Given the description of an element on the screen output the (x, y) to click on. 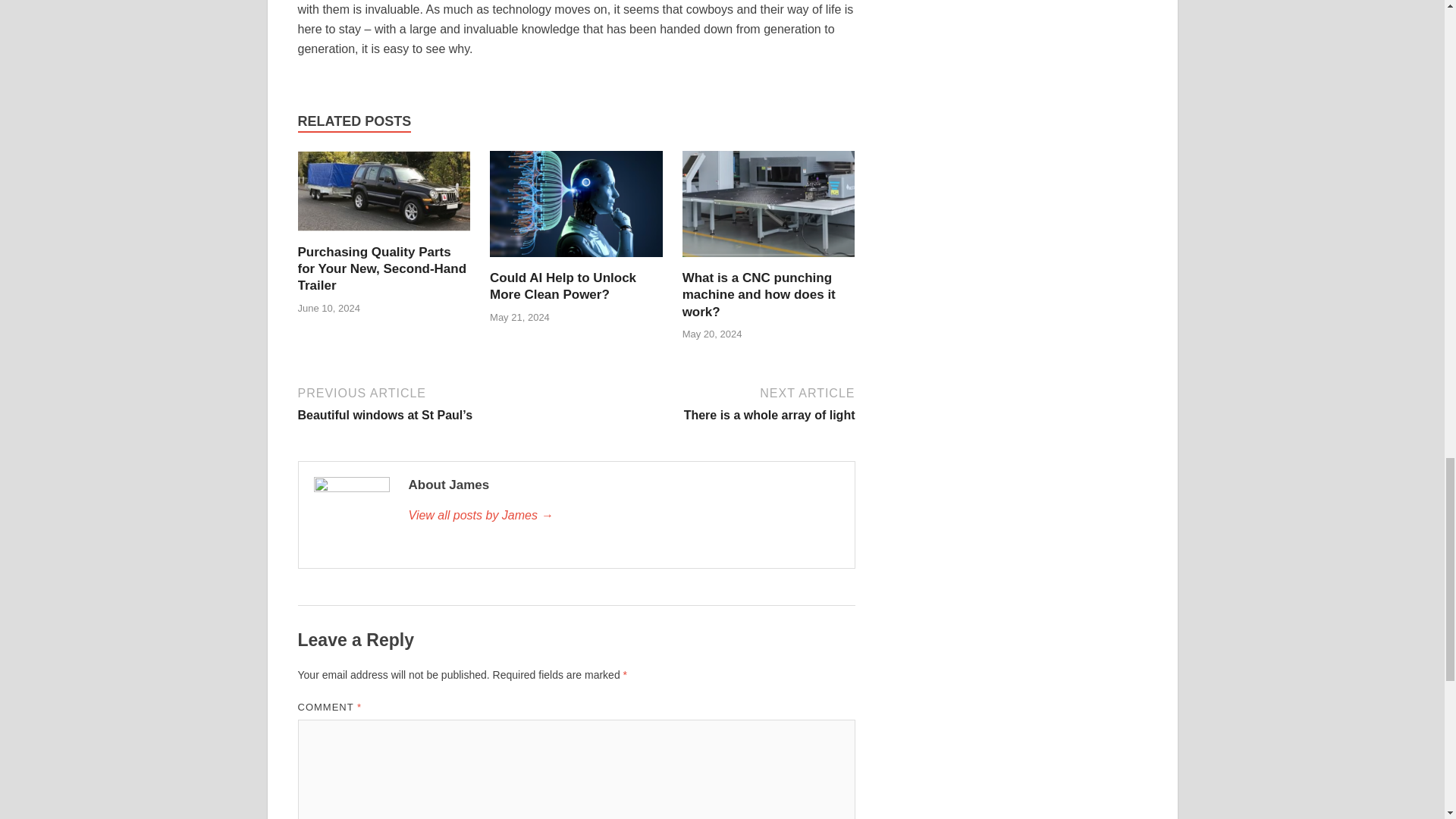
Could AI Help to Unlock More Clean Power? (575, 209)
Could AI Help to Unlock More Clean Power? (562, 286)
Purchasing Quality Parts for Your New, Second-Hand Trailer (383, 196)
What is a CNC punching machine and how does it work? (758, 294)
Purchasing Quality Parts for Your New, Second-Hand Trailer (381, 268)
James (622, 515)
What is a CNC punching machine and how does it work? (769, 209)
